Given the description of an element on the screen output the (x, y) to click on. 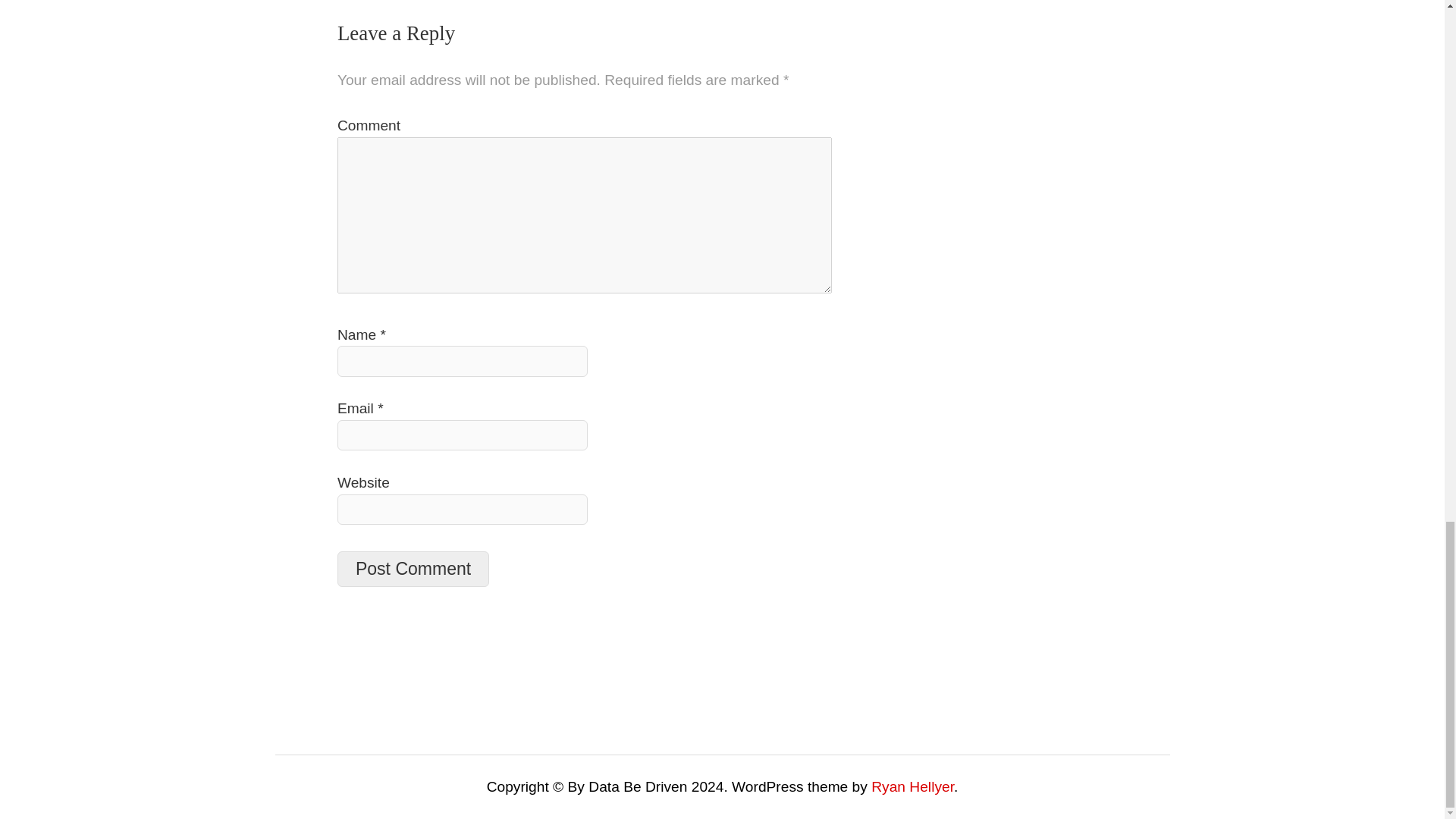
Ryan Hellyer (911, 786)
Ryan Hellyer (911, 786)
Post Comment (413, 569)
Post Comment (413, 569)
